Given the description of an element on the screen output the (x, y) to click on. 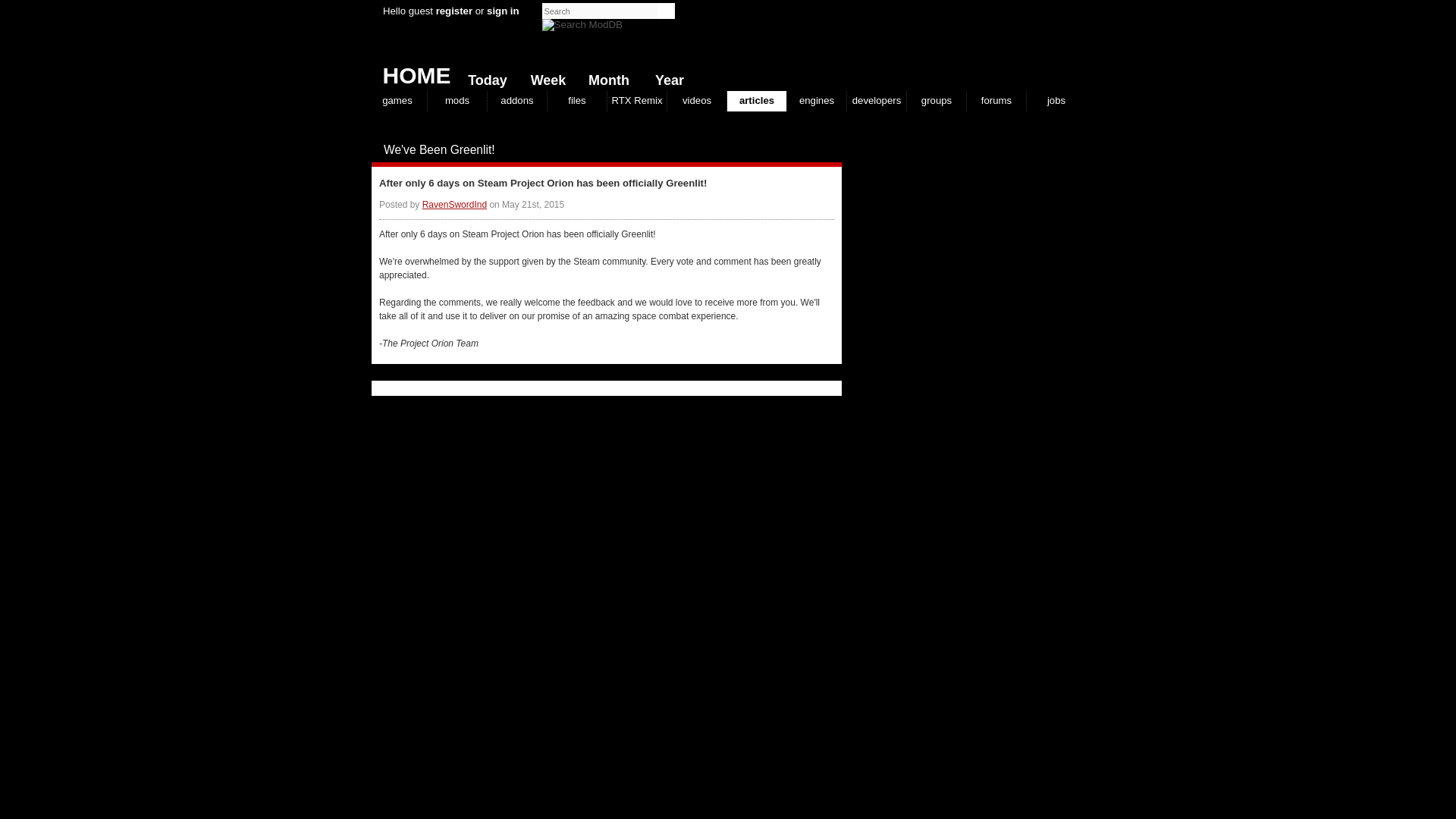
Search ModDB (582, 24)
New this year (666, 76)
mods (457, 100)
HOME (410, 71)
Post news (803, 150)
files (577, 100)
Report (818, 150)
New today (483, 76)
Week (545, 76)
ModDB Home (970, 45)
